Given the description of an element on the screen output the (x, y) to click on. 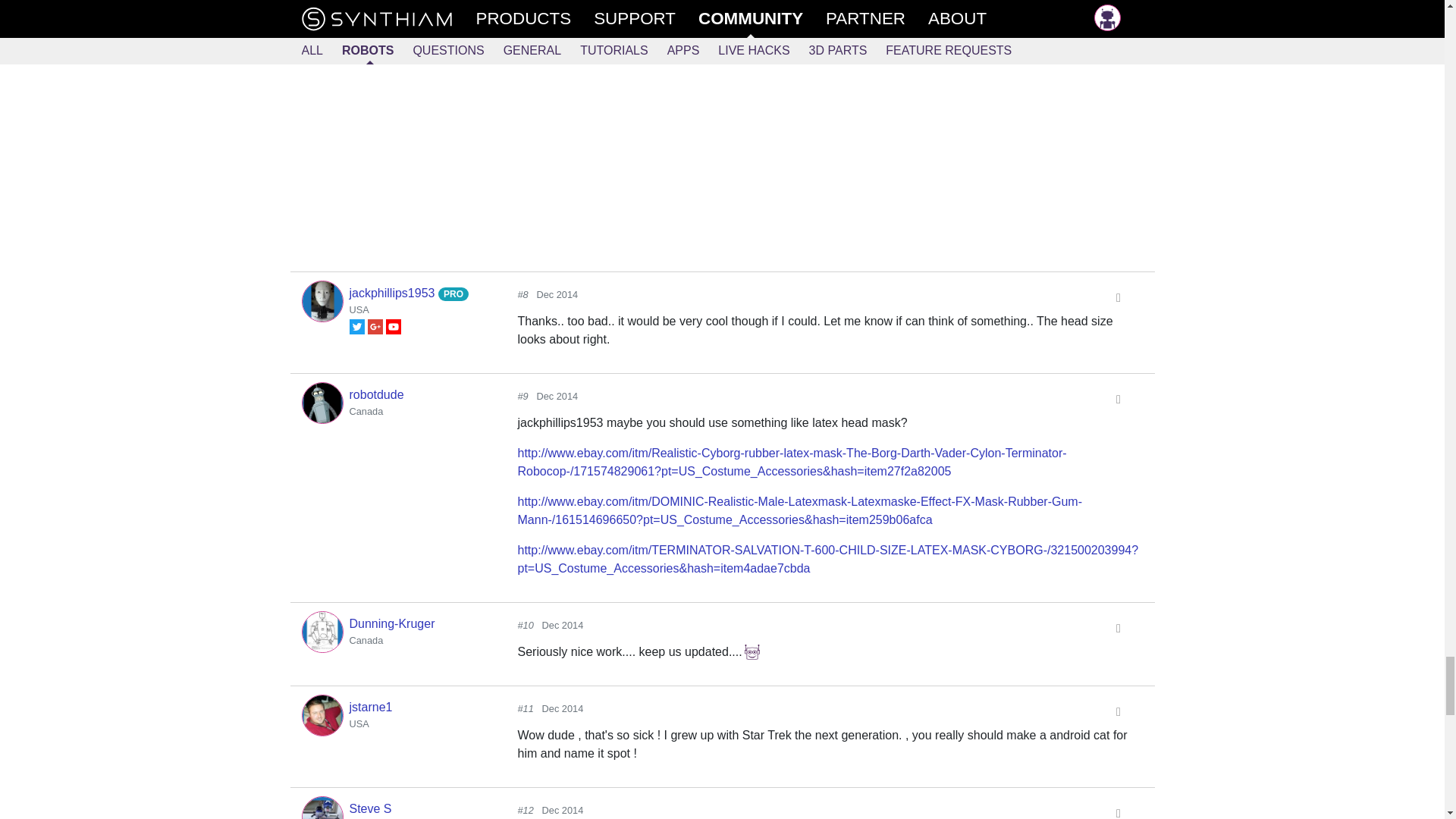
2014-12-10 14:58 UTC (556, 294)
2014-12-10 15:07 UTC (556, 396)
2014-12-10 16:27 UTC (562, 809)
2014-12-10 15:47 UTC (562, 708)
2014-12-10 15:23 UTC (562, 624)
